Given the description of an element on the screen output the (x, y) to click on. 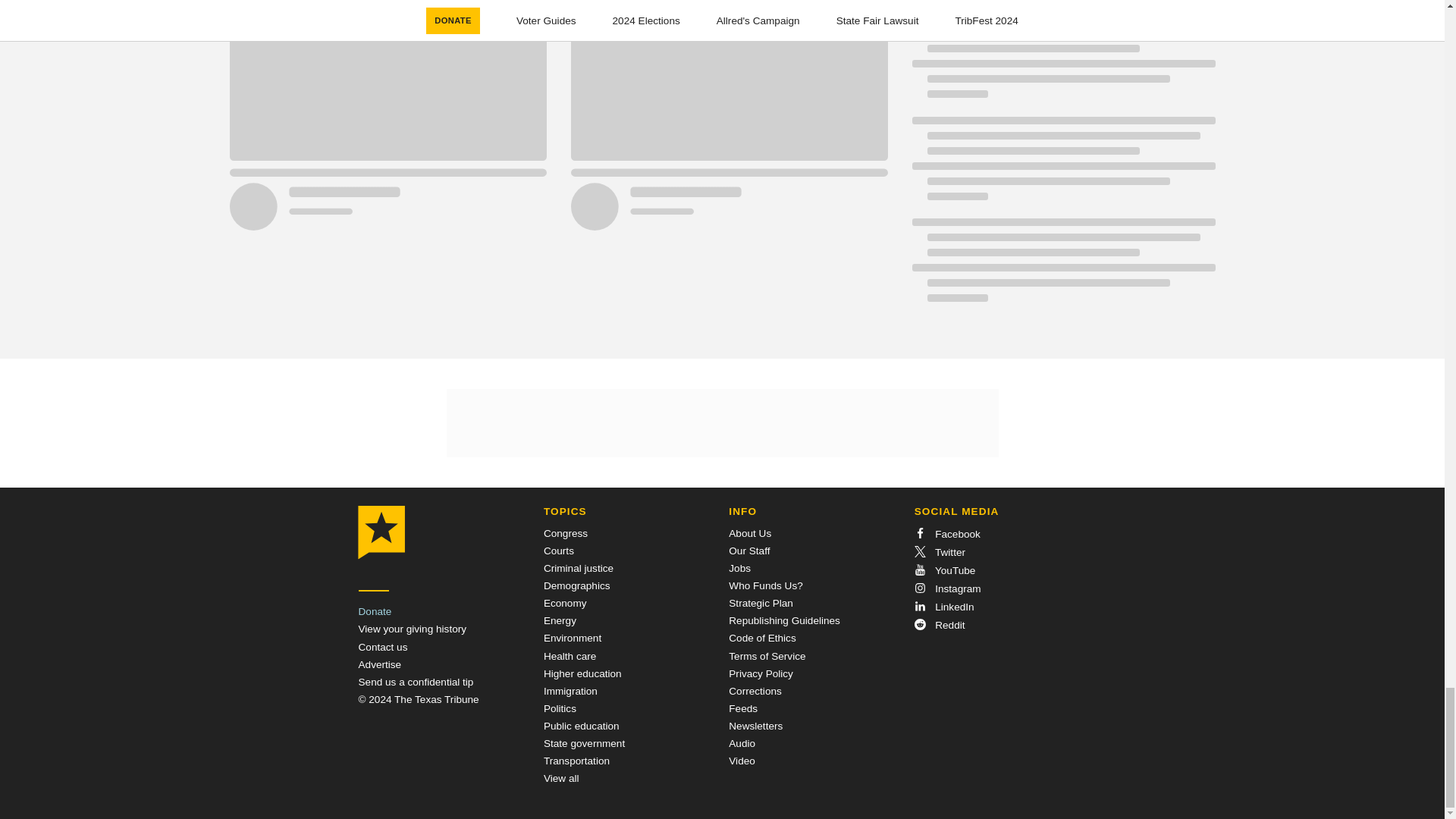
Republishing Guidelines (784, 620)
Newsletters (756, 726)
Feeds (743, 708)
Who Funds Us? (765, 585)
About Us (750, 532)
Terms of Service (767, 655)
Send a Tip (415, 681)
Loading indicator (1062, 165)
Loading indicator (1062, 63)
Facebook (946, 533)
